Given the description of an element on the screen output the (x, y) to click on. 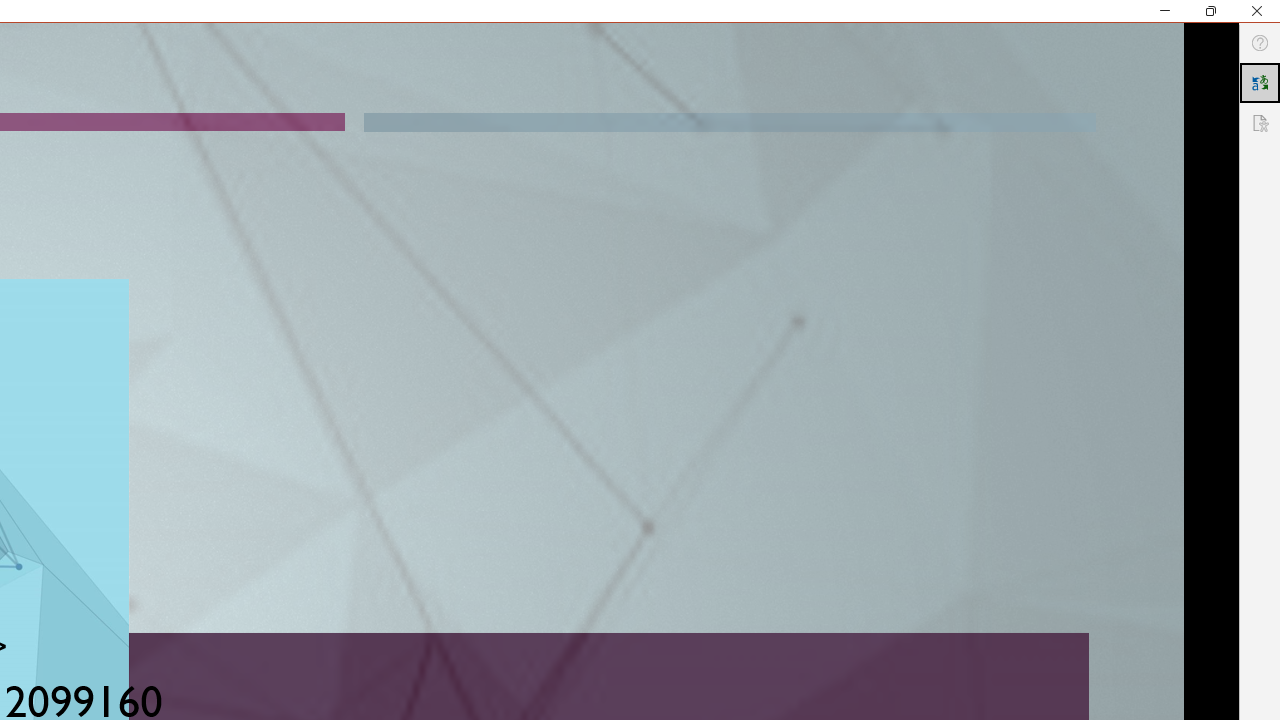
Translator (1260, 82)
Accessibility (1260, 122)
Help (1260, 43)
